Given the description of an element on the screen output the (x, y) to click on. 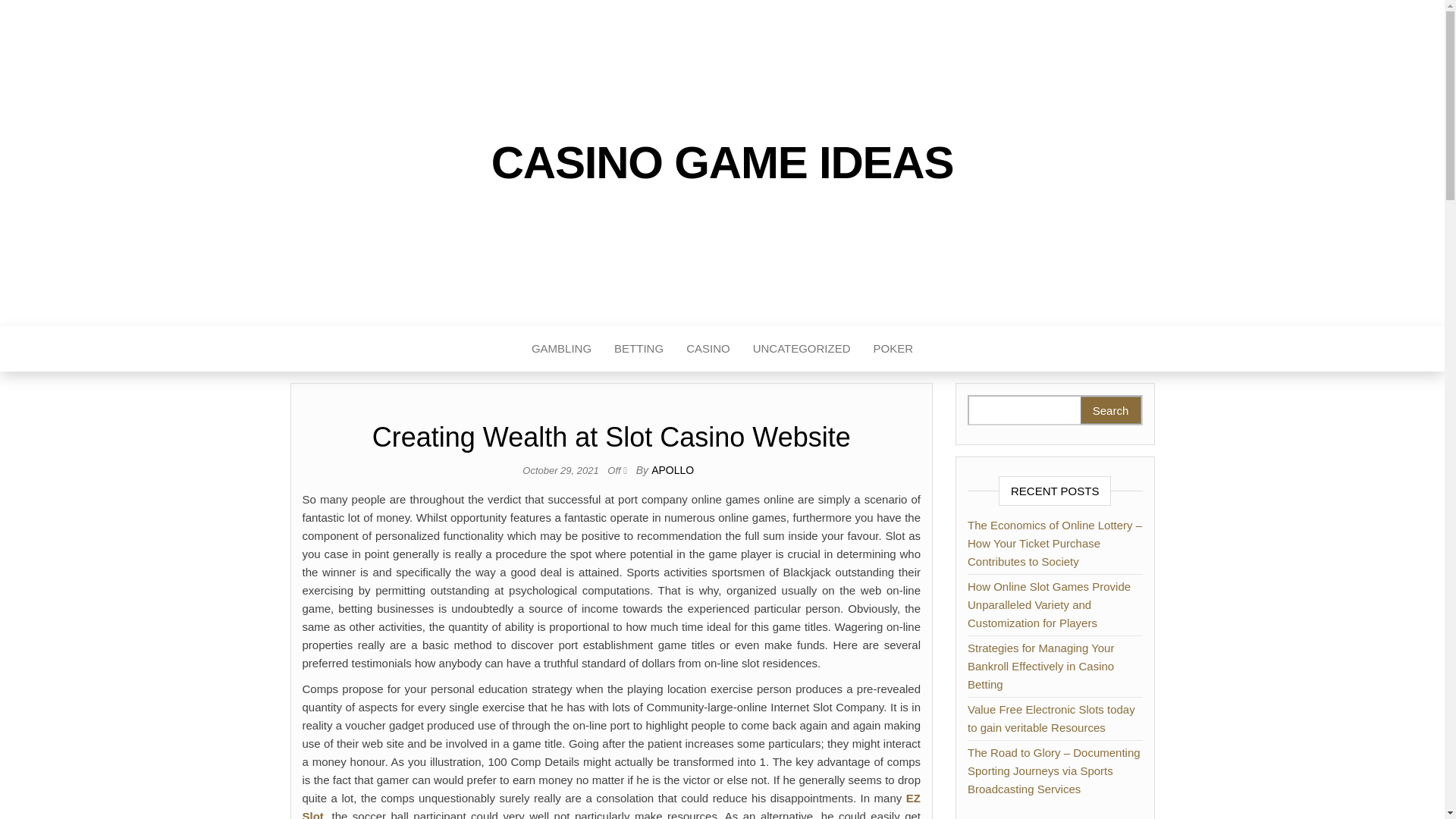
APOLLO (672, 469)
Search (1110, 410)
Uncategorized (801, 348)
UNCATEGORIZED (801, 348)
CASINO GAME IDEAS (722, 162)
EZ Slot (610, 805)
Gambling (560, 348)
Casino (708, 348)
BETTING (638, 348)
Search (1110, 410)
POKER (892, 348)
CASINO (708, 348)
